Given the description of an element on the screen output the (x, y) to click on. 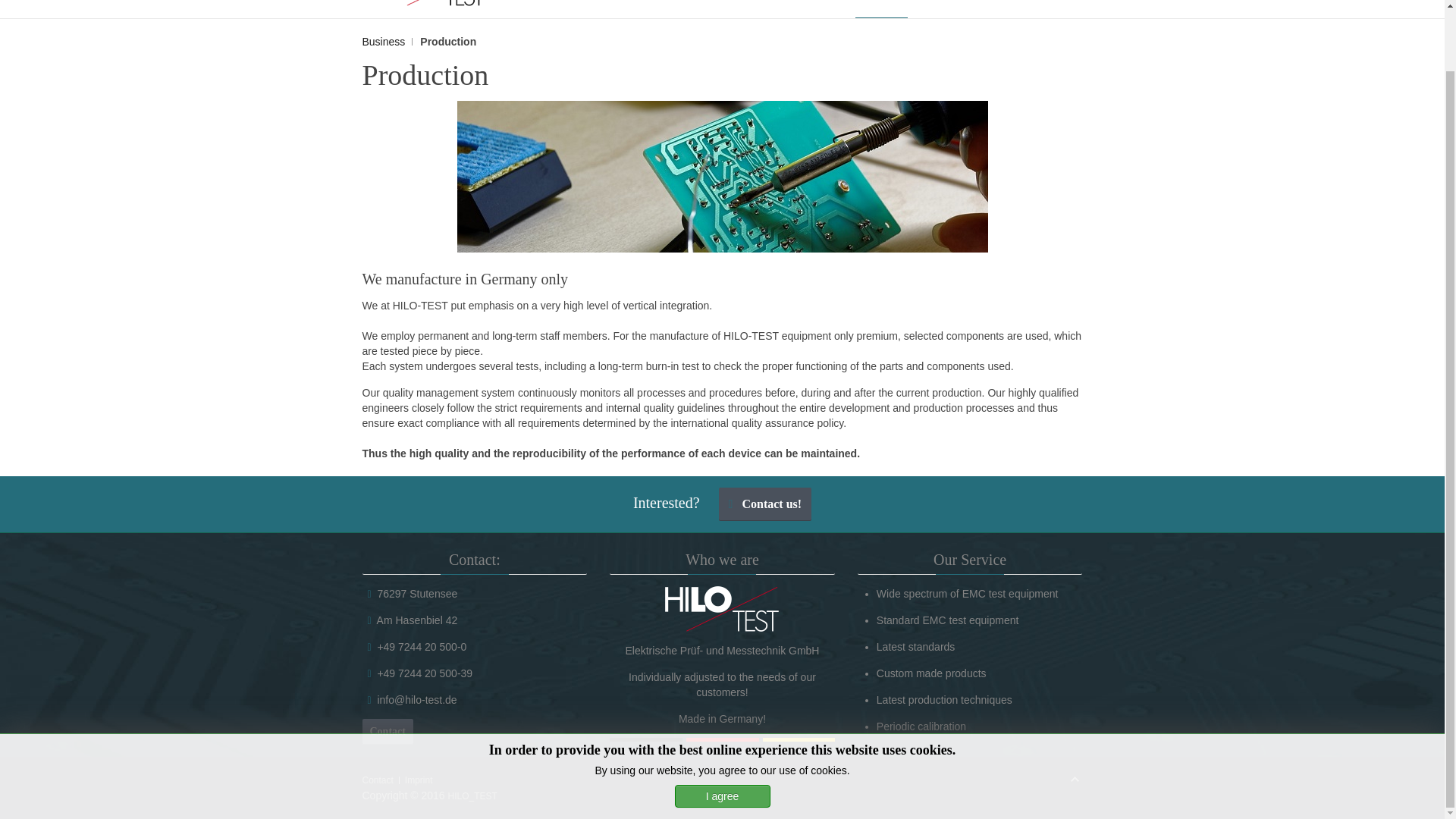
Products (829, 9)
HILO-Test (771, 9)
Imprint (418, 780)
News (1074, 9)
Business (387, 41)
Contact (387, 731)
Contacts (933, 9)
Masoko (722, 739)
Business (882, 9)
HILO-TEST (721, 608)
   Contact us! (765, 503)
Contact (377, 780)
